Given the description of an element on the screen output the (x, y) to click on. 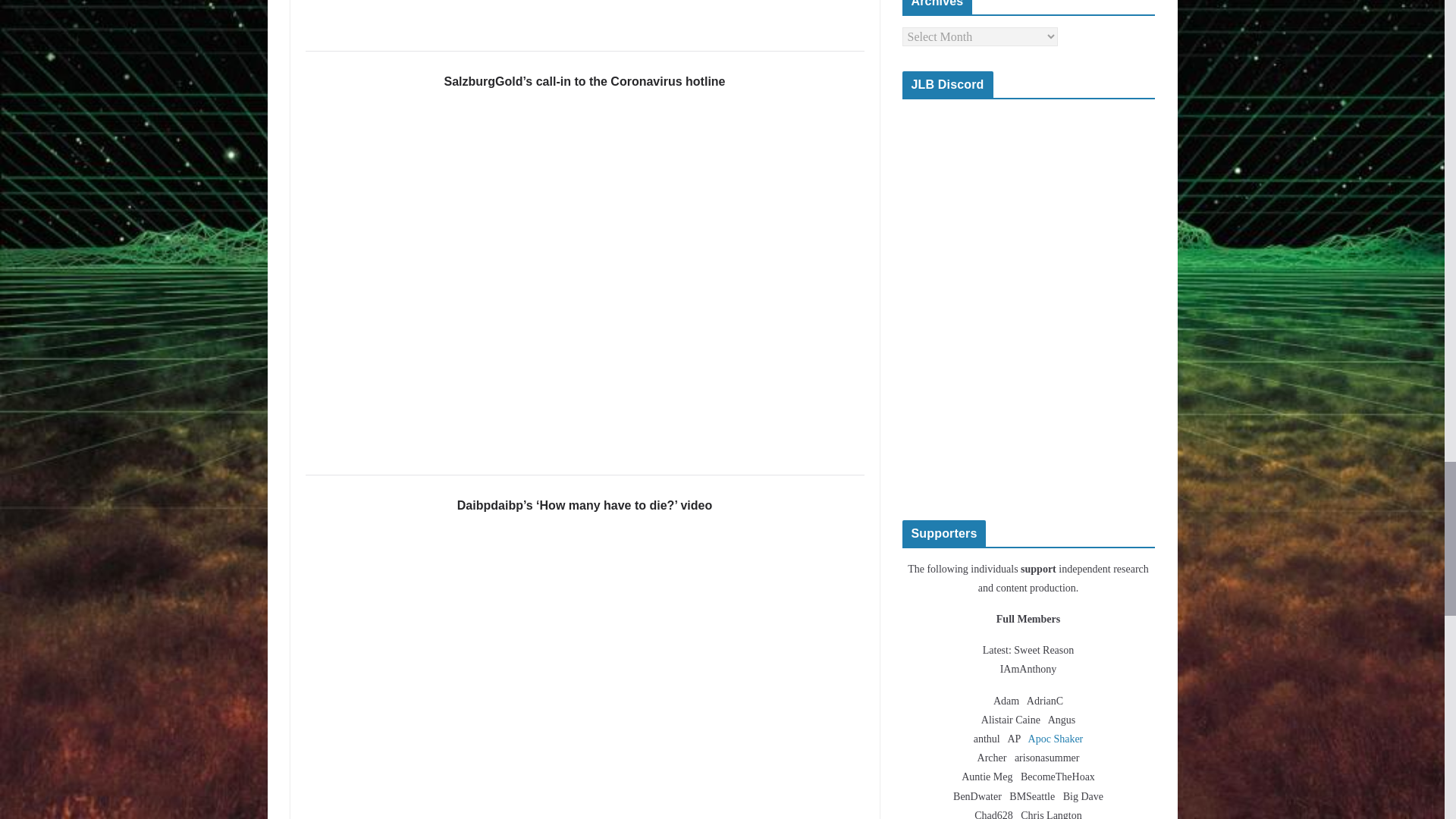
Why Coronavirus Has Me VERY Scared (583, 10)
